Given the description of an element on the screen output the (x, y) to click on. 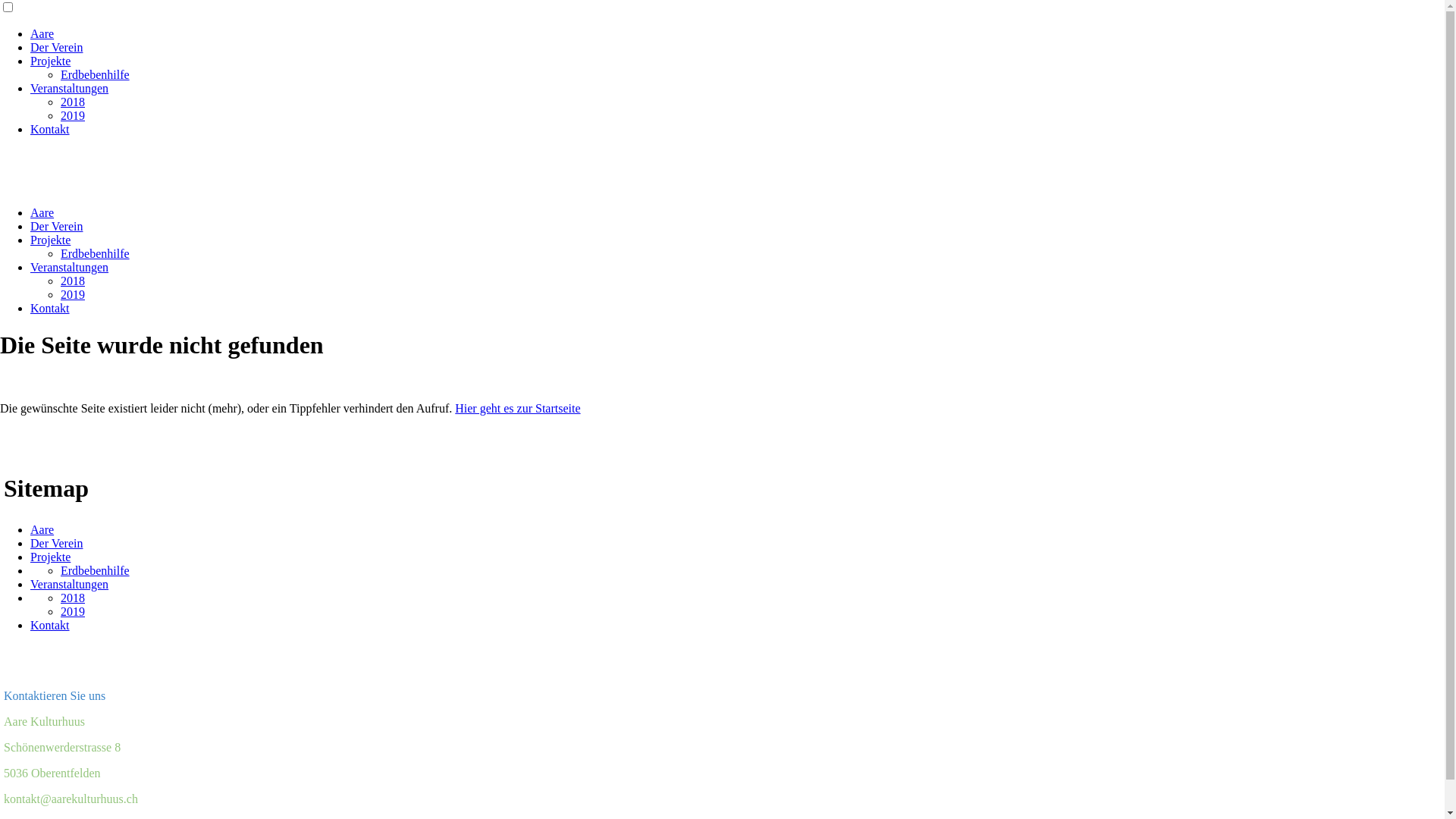
Projekte Element type: text (50, 60)
Erdbebenhilfe Element type: text (94, 74)
Veranstaltungen Element type: text (69, 266)
Projekte Element type: text (50, 556)
Hier geht es zur Startseite Element type: text (517, 407)
Aare Element type: text (41, 33)
Veranstaltungen Element type: text (69, 583)
Der Verein Element type: text (56, 46)
2019 Element type: text (72, 115)
2018 Element type: text (72, 597)
2018 Element type: text (72, 101)
Kontakt Element type: text (49, 128)
2019 Element type: text (72, 294)
Kontakt Element type: text (49, 624)
2018 Element type: text (72, 280)
Erdbebenhilfe Element type: text (94, 253)
Veranstaltungen Element type: text (69, 87)
Der Verein Element type: text (56, 542)
Aare Element type: text (41, 529)
Der Verein Element type: text (56, 225)
Projekte Element type: text (50, 239)
Kontakt Element type: text (49, 307)
2019 Element type: text (72, 611)
Erdbebenhilfe Element type: text (94, 570)
Aare Element type: text (41, 212)
